Given the description of an element on the screen output the (x, y) to click on. 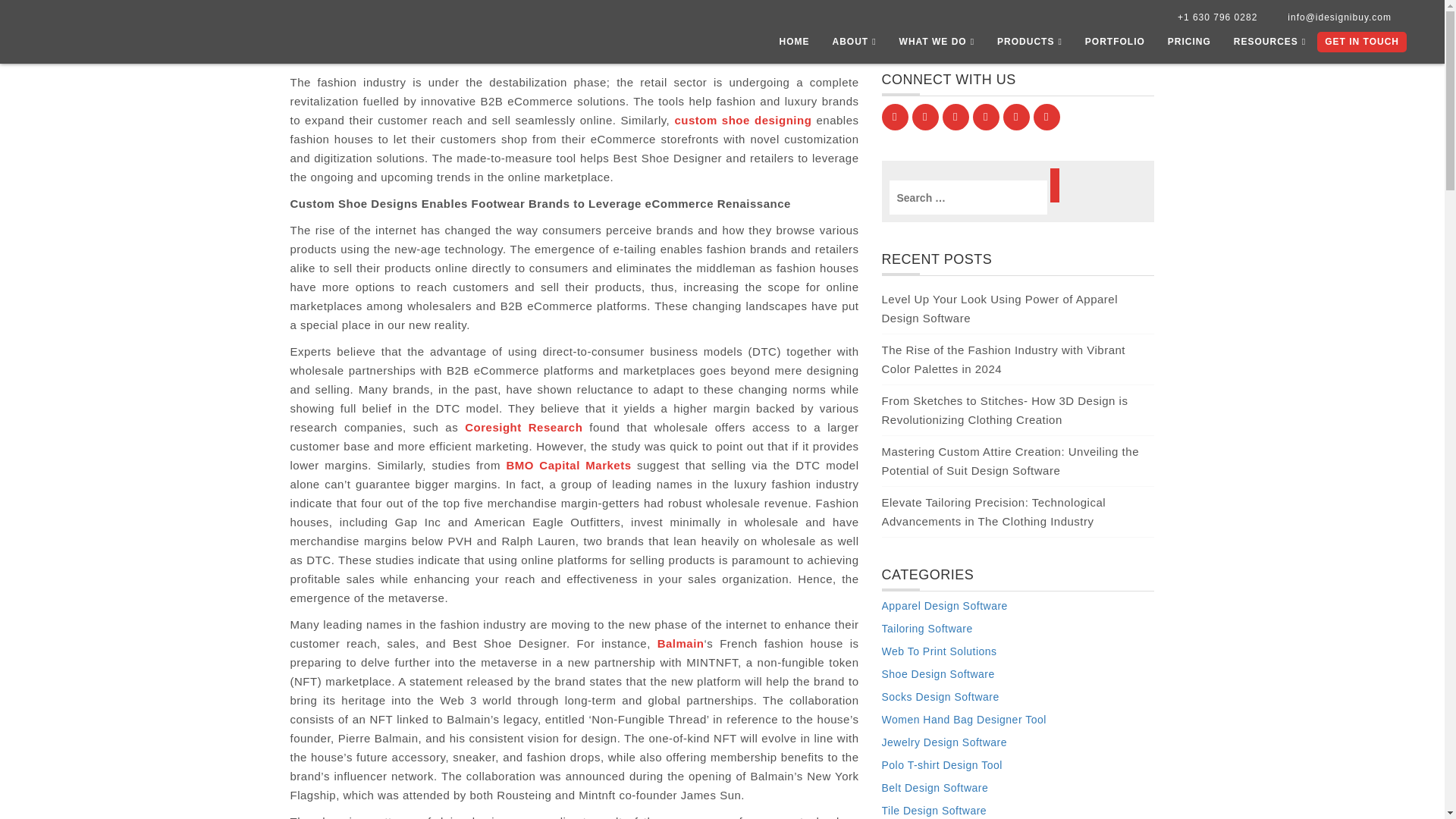
HOME (794, 45)
RESOURCES (1270, 45)
ABOUT (853, 45)
PORTFOLIO (1115, 45)
PRODUCTS (1029, 45)
WHAT WE DO (937, 45)
PRICING (1189, 45)
GET IN TOUCH (1361, 41)
